Given the description of an element on the screen output the (x, y) to click on. 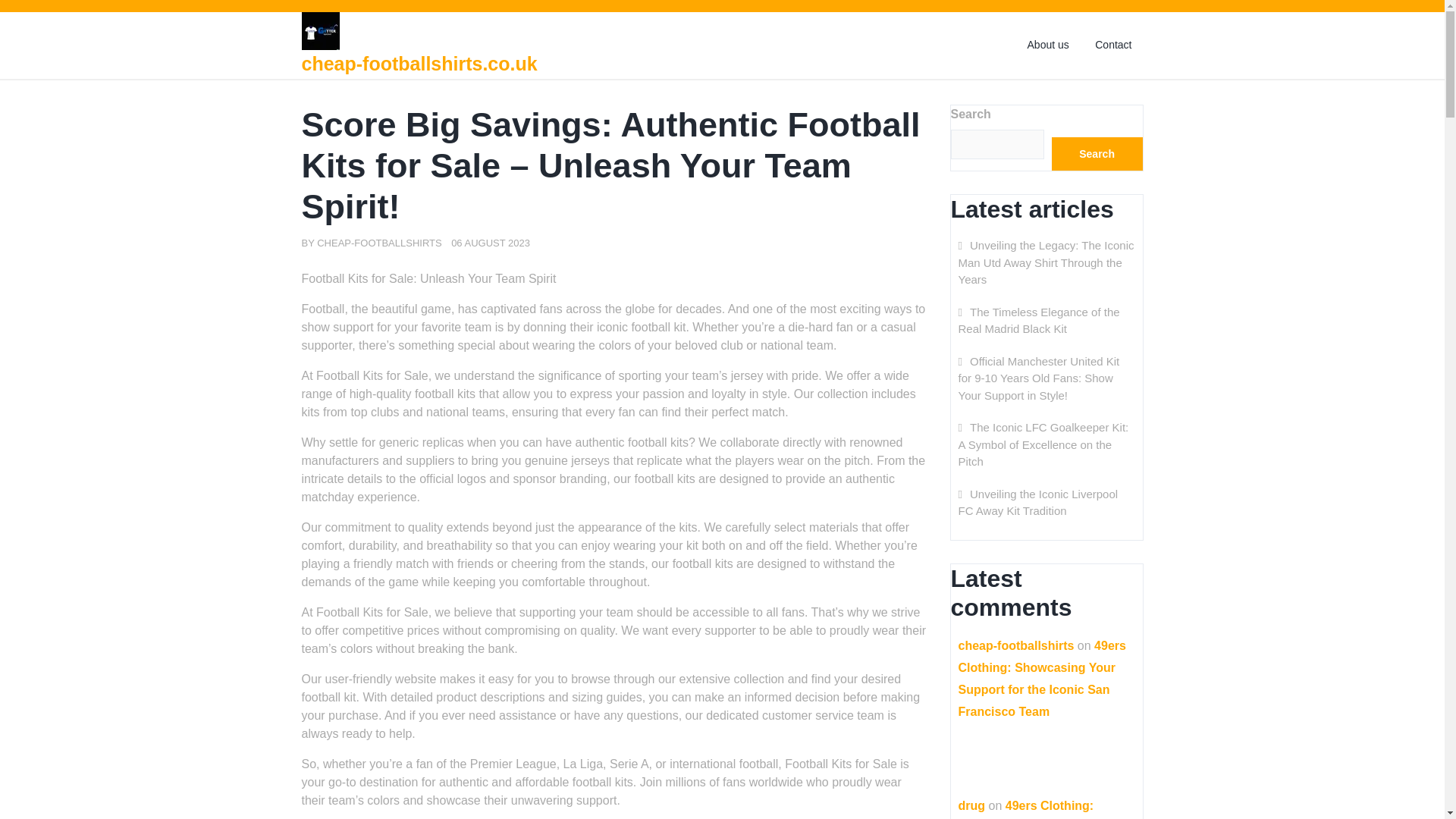
Contact (1112, 44)
About us (1048, 44)
CHEAP-FOOTBALLSHIRTS (379, 242)
cheap-footballshirts.co.uk (419, 63)
